Given the description of an element on the screen output the (x, y) to click on. 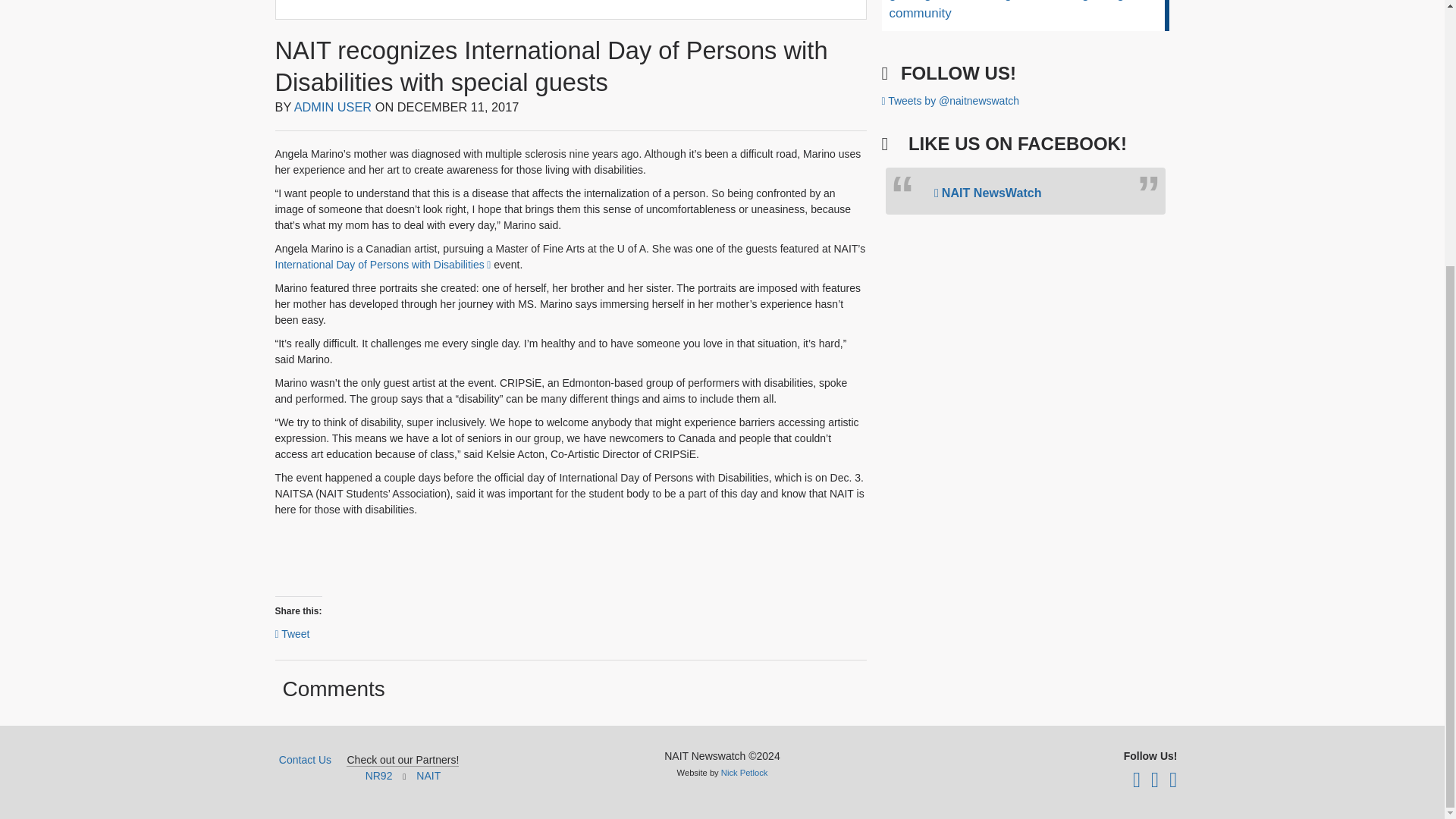
Contact Us (305, 759)
NAIT (428, 775)
ADMIN USER (333, 106)
NAIT NewsWatch (988, 192)
Tweet (291, 632)
International Day of Persons with Disabilities (382, 264)
Nick Petlock (744, 772)
NR92 (379, 775)
